Given the description of an element on the screen output the (x, y) to click on. 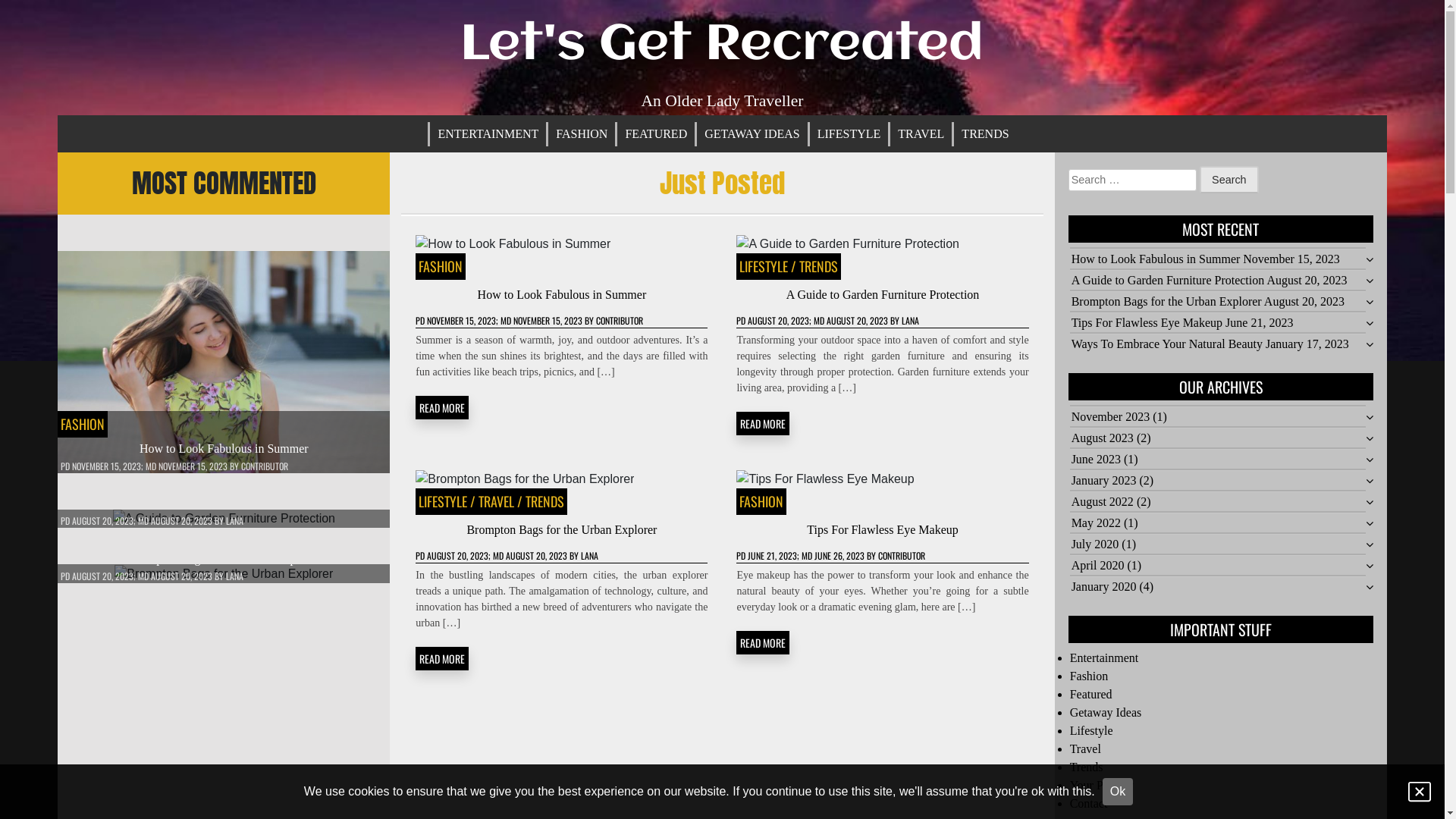
January 2020 Element type: text (1103, 586)
Your Privacy Element type: text (1101, 784)
A Guide to Garden Furniture Protection Element type: text (882, 294)
Entertainment Element type: text (1104, 657)
TRAVEL Element type: text (920, 134)
CONTRIBUTOR Element type: text (619, 319)
How to Look Fabulous in Summer Element type: text (561, 294)
November 2023 Element type: text (1110, 416)
FASHION Element type: text (581, 134)
NOVEMBER 15, 2023; MD NOVEMBER 15, 2023 Element type: text (149, 465)
LIFESTYLE Element type: text (763, 266)
January 2023 Element type: text (1103, 479)
Tips For Flawless Eye Makeup Element type: text (881, 529)
FASHION Element type: text (82, 423)
TRENDS Element type: text (984, 134)
LANA Element type: text (234, 520)
LANA Element type: text (589, 555)
A Guide to Garden Furniture Protection Element type: text (223, 502)
Ways To Embrace Your Natural Beauty Element type: text (1166, 343)
Travel Element type: text (1085, 748)
Brompton Bags for the Urban Explorer Element type: text (223, 558)
CONTRIBUTOR Element type: text (264, 465)
Search Element type: text (1228, 179)
Trends Element type: text (1086, 766)
How to Look Fabulous in Summer Element type: text (223, 448)
LANA Element type: text (234, 575)
AUGUST 20, 2023; MD AUGUST 20, 2023 Element type: text (496, 555)
August 2023 Element type: text (1102, 437)
Let's Get Recreated Element type: text (721, 45)
July 2020 Element type: text (1095, 543)
FASHION Element type: text (440, 266)
Fashion Element type: text (1089, 675)
Getaway Ideas Element type: text (1106, 712)
ENTERTAINMENT Element type: text (487, 134)
April 2020 Element type: text (1097, 564)
READ MORE Element type: text (441, 658)
READ MORE Element type: text (441, 407)
LANA Element type: text (910, 319)
Ok Element type: text (1117, 791)
READ MORE Element type: text (762, 642)
May 2022 Element type: text (1095, 522)
Brompton Bags for the Urban Explorer Element type: text (1166, 300)
GETAWAY IDEAS Element type: text (751, 134)
Lifestyle Element type: text (1091, 730)
Featured Element type: text (1091, 693)
FEATURED Element type: text (655, 134)
CONTRIBUTOR Element type: text (901, 555)
Brompton Bags for the Urban Explorer Element type: text (561, 529)
AUGUST 20, 2023; MD AUGUST 20, 2023 Element type: text (142, 520)
LIFESTYLE Element type: text (848, 134)
NOVEMBER 15, 2023; MD NOVEMBER 15, 2023 Element type: text (504, 319)
A Guide to Garden Furniture Protection Element type: text (1167, 279)
FASHION Element type: text (761, 501)
JUNE 21, 2023; MD JUNE 26, 2023 Element type: text (805, 555)
Contact Element type: text (1088, 803)
June 2023 Element type: text (1095, 458)
LIFESTYLE Element type: text (442, 501)
AUGUST 20, 2023; MD AUGUST 20, 2023 Element type: text (817, 319)
READ MORE Element type: text (762, 423)
TRAVEL Element type: text (496, 501)
TRENDS Element type: text (818, 266)
August 2022 Element type: text (1102, 501)
How to Look Fabulous in Summer Element type: text (1155, 258)
AUGUST 20, 2023; MD AUGUST 20, 2023 Element type: text (142, 575)
TRENDS Element type: text (544, 501)
Tips For Flawless Eye Makeup Element type: text (1146, 322)
